Given the description of an element on the screen output the (x, y) to click on. 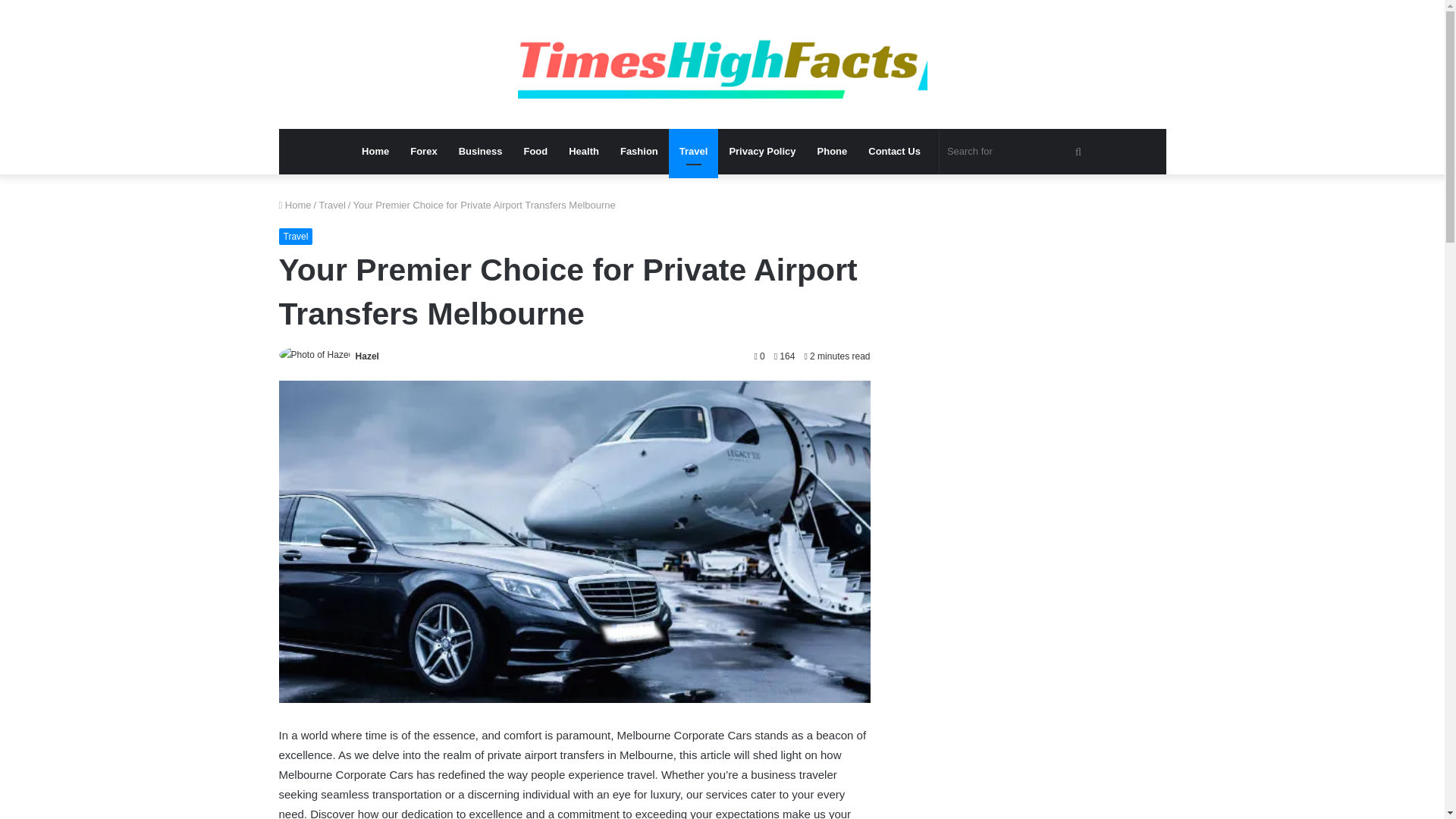
Search for (1016, 151)
Hazel (366, 356)
Forex (422, 151)
TimesHighFacts (721, 64)
Food (534, 151)
Hazel (366, 356)
Health (583, 151)
Contact Us (894, 151)
Phone (832, 151)
Travel (332, 204)
